Given the description of an element on the screen output the (x, y) to click on. 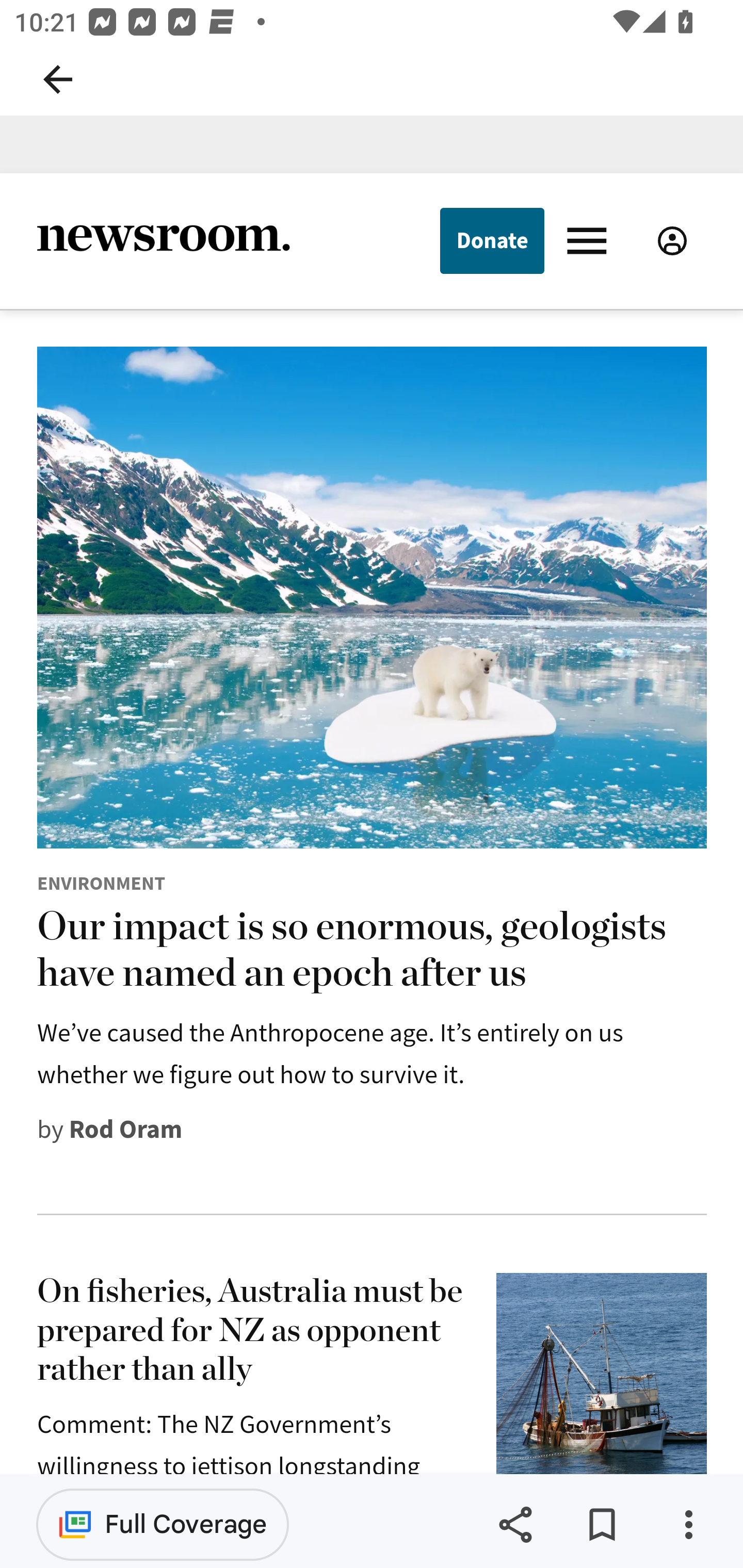
Navigate up (57, 79)
Newsroom (163, 240)
Donate (491, 240)
Sign In (672, 240)
Menu (590, 239)
ENVIRONMENT (101, 883)
Rod Oram (126, 1128)
Share (514, 1524)
Save for later (601, 1524)
More options (688, 1524)
Full Coverage (162, 1524)
